Given the description of an element on the screen output the (x, y) to click on. 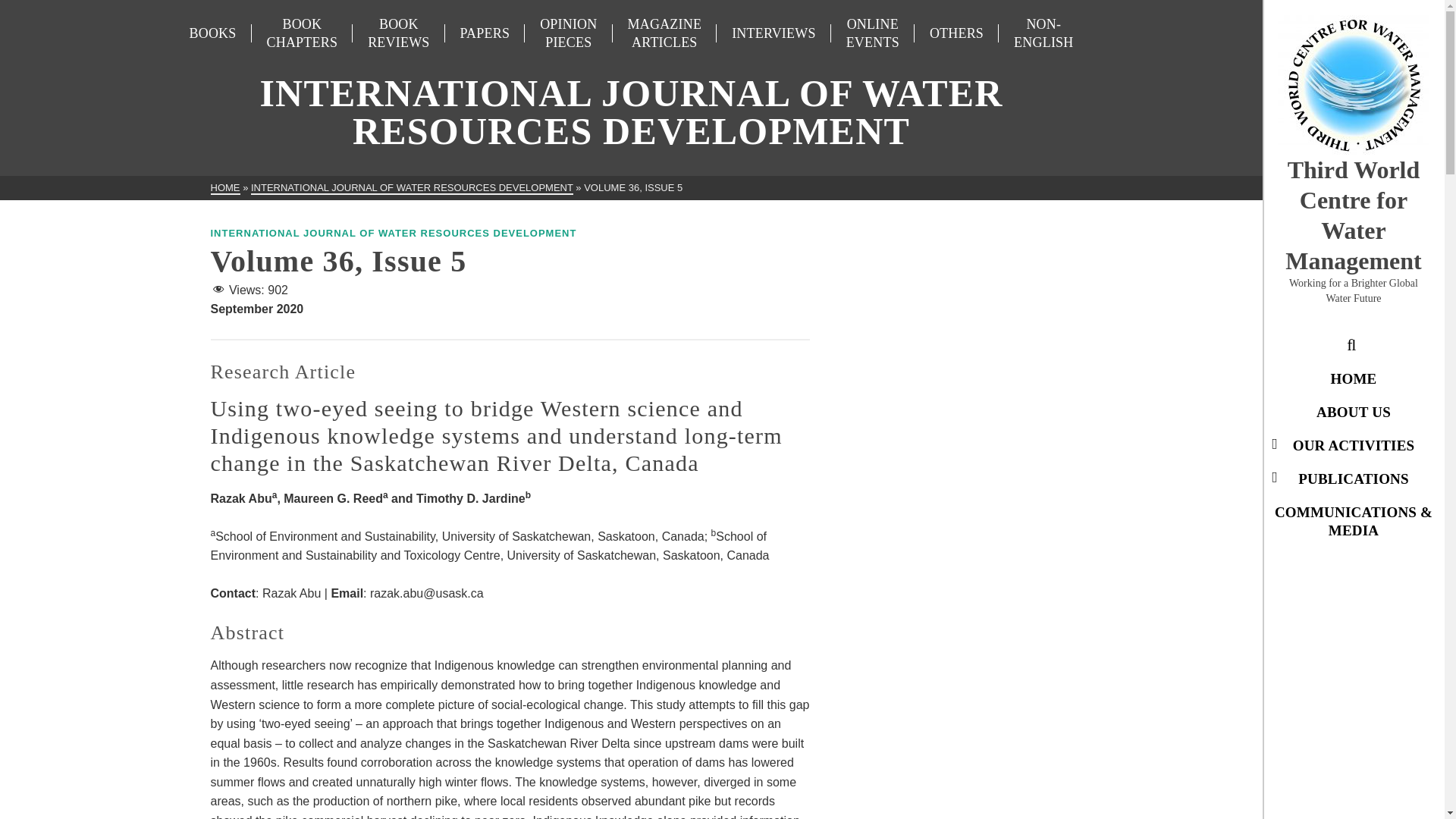
INTERVIEWS (773, 33)
INTERNATIONAL JOURNAL OF WATER RESOURCES DEVELOPMENT (411, 187)
MAGAZINE ARTICLES (664, 33)
PAPERS (485, 33)
ONLINE EVENTS (872, 33)
OTHERS (956, 33)
BOOKS (212, 33)
BOOK REVIEWS (398, 33)
INTERNATIONAL JOURNAL OF WATER RESOURCES DEVELOPMENT (393, 233)
NON-ENGLISH (1042, 33)
